Given the description of an element on the screen output the (x, y) to click on. 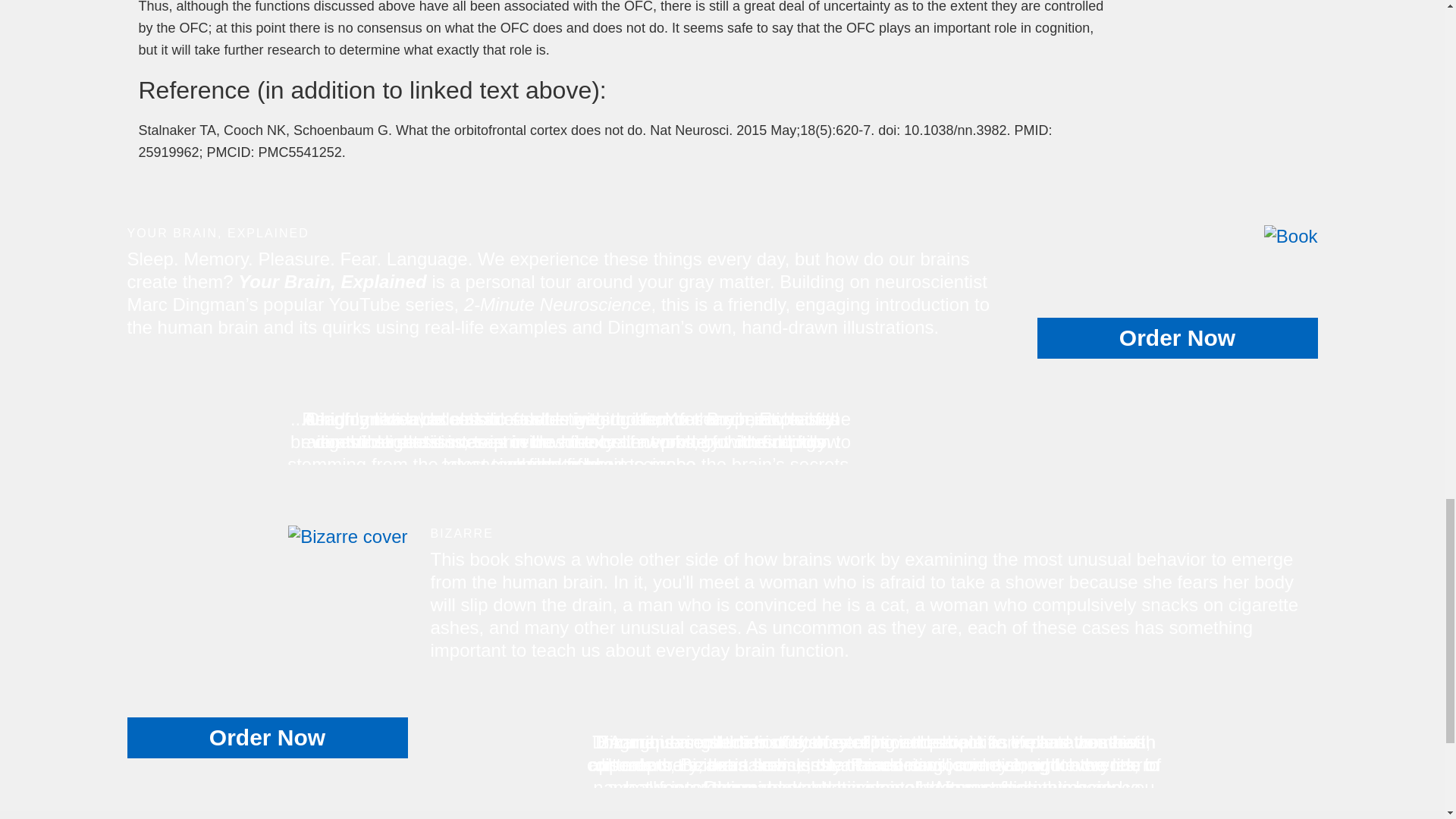
Previous Slide (139, 407)
Previous Slide (442, 730)
Next Slide (1002, 407)
Order Now (1176, 337)
Order Now (267, 737)
Next Slide (1305, 730)
